Given the description of an element on the screen output the (x, y) to click on. 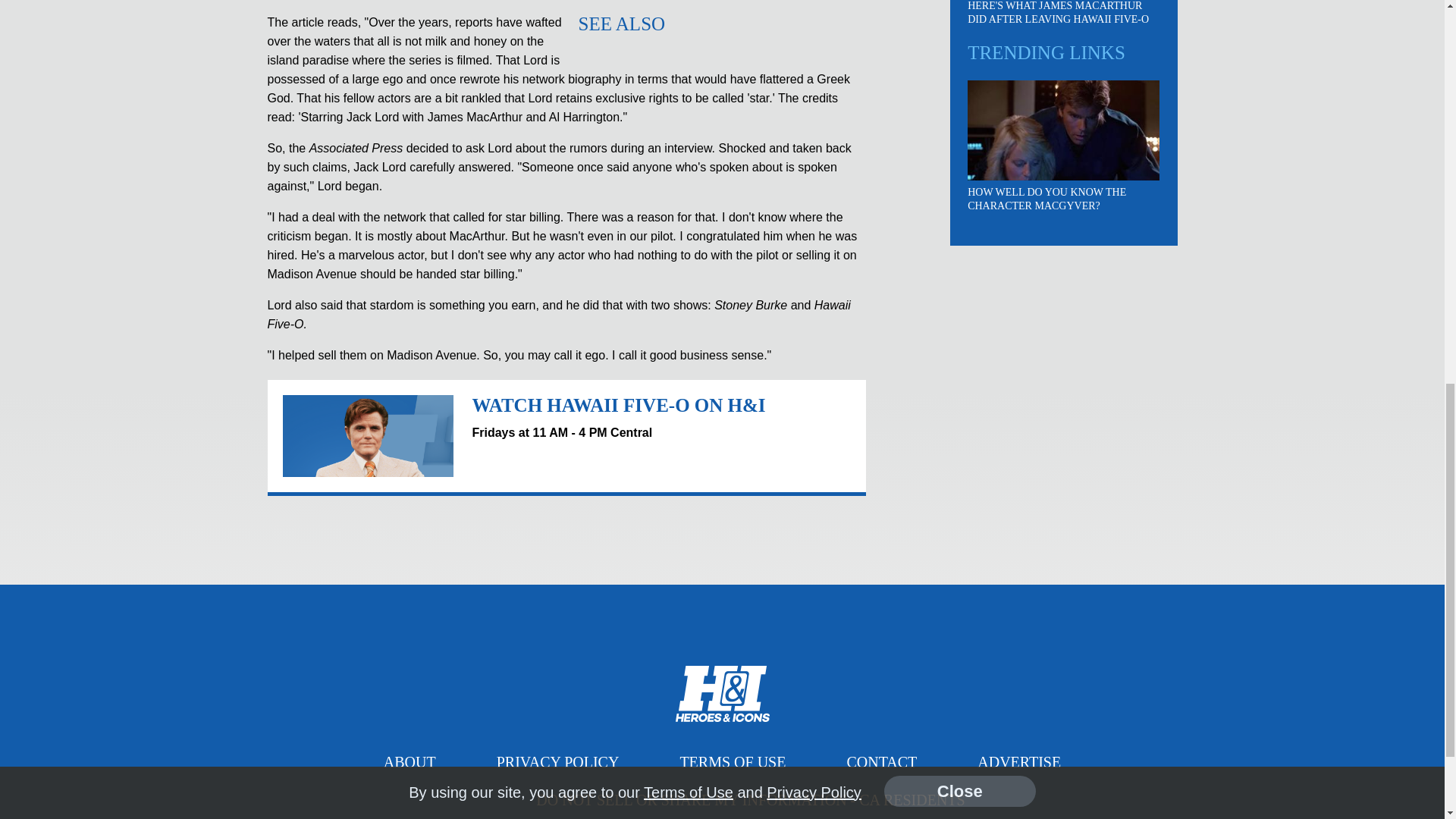
TERMS OF USE (732, 761)
ADVERTISE (1018, 761)
HERE'S WHAT JAMES MACARTHUR DID AFTER LEAVING HAWAII FIVE-O (1058, 12)
ABOUT (409, 761)
CONTACT (881, 761)
PRIVACY POLICY (558, 761)
DO NOT SELL OR SHARE MY INFORMATION - CA RESIDENTS (749, 799)
HOW WELL DO YOU KNOW THE CHARACTER MACGYVER? (1046, 198)
